Given the description of an element on the screen output the (x, y) to click on. 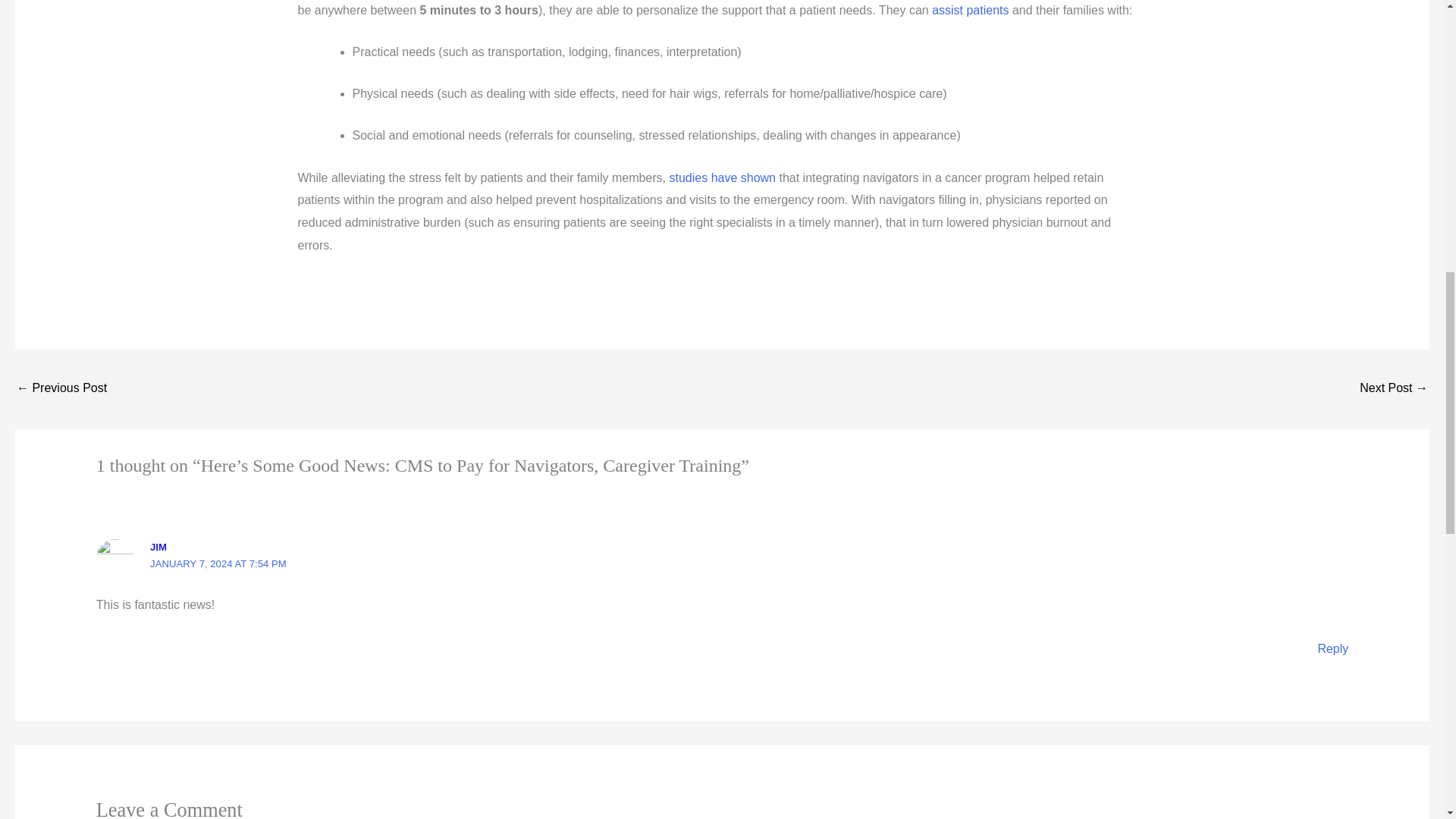
Supporting Family Caregivers of Medicare patients (61, 389)
studies have shown (722, 177)
JANUARY 7, 2024 AT 7:54 PM (217, 563)
assist patients (970, 10)
Reply (1332, 648)
